Given the description of an element on the screen output the (x, y) to click on. 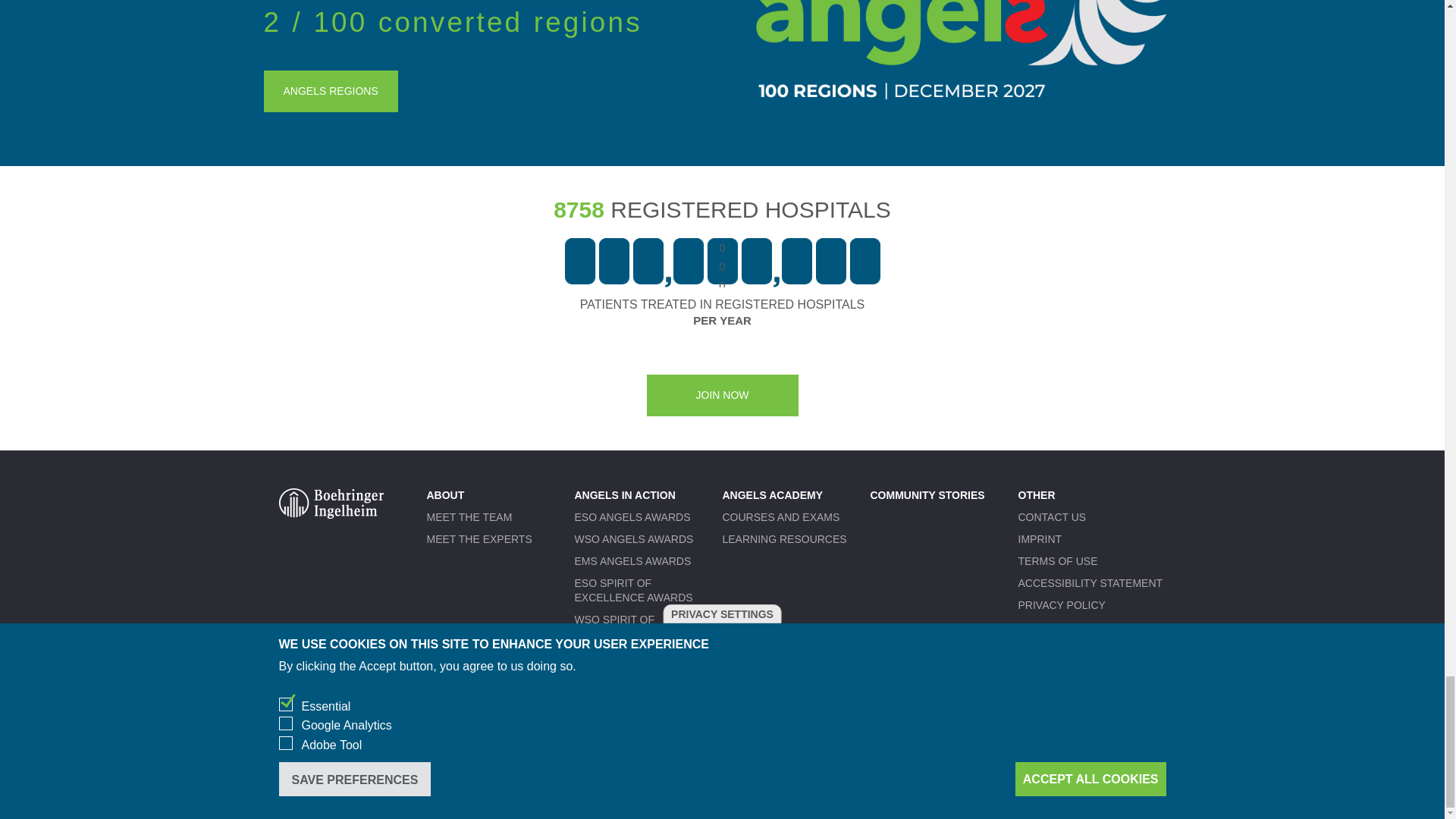
Country Level Strategy (648, 655)
Terms of use (1057, 561)
Imprint (1039, 539)
FAQs (1031, 626)
Meet the experts (478, 539)
Privacy policy (1061, 604)
Meet the team (469, 517)
About (445, 494)
Angels in Action (625, 494)
Accessibility statement (1089, 582)
